Given the description of an element on the screen output the (x, y) to click on. 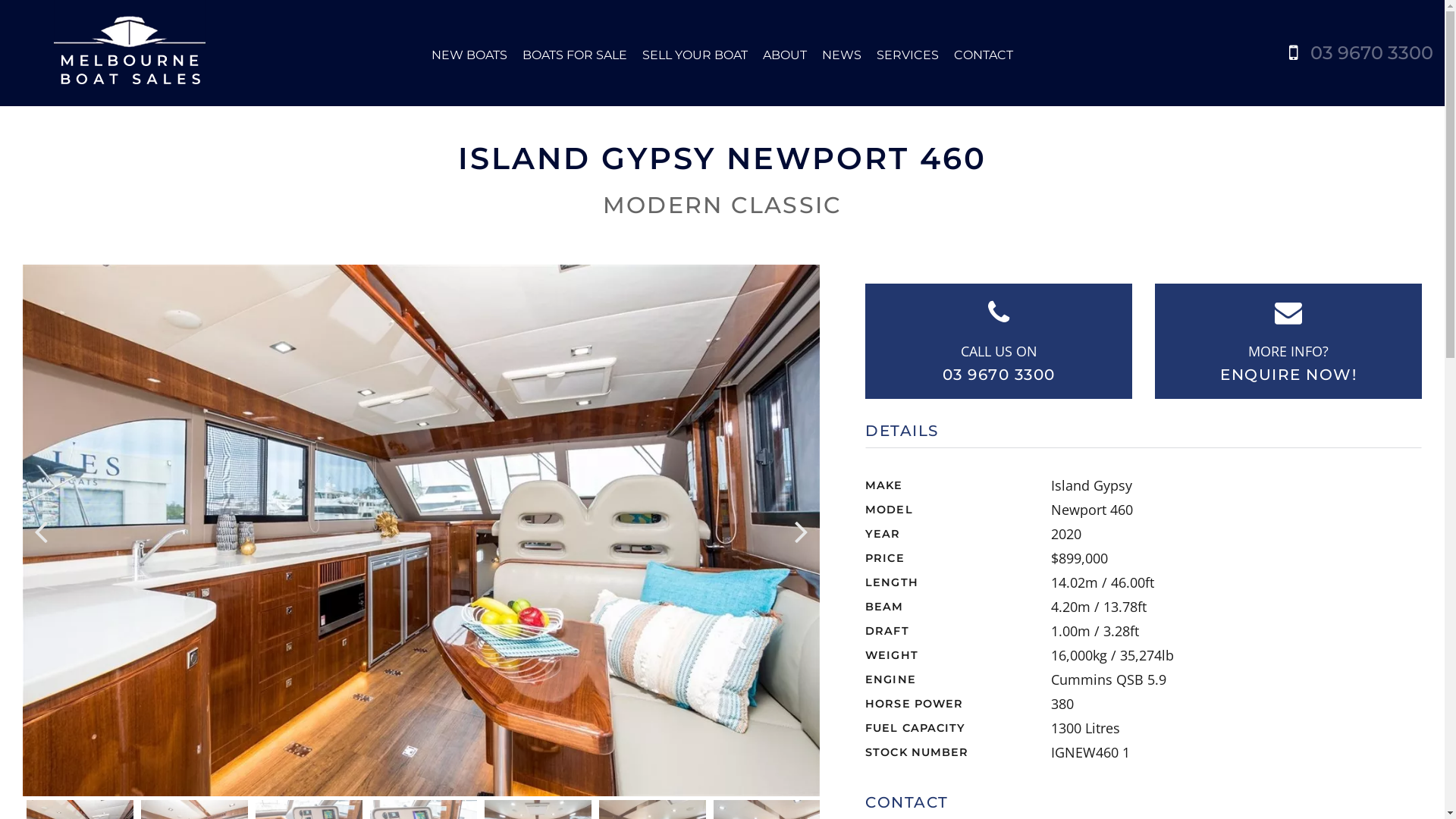
SERVICES Element type: text (907, 54)
BOATS FOR SALE Element type: text (574, 54)
SELL YOUR BOAT Element type: text (694, 54)
NEW BOATS Element type: text (468, 54)
ABOUT Element type: text (784, 54)
03 9670 3300 Element type: text (1371, 52)
CONTACT Element type: text (983, 54)
NEWS Element type: text (841, 54)
03 9670 3300 Element type: text (998, 374)
